Given the description of an element on the screen output the (x, y) to click on. 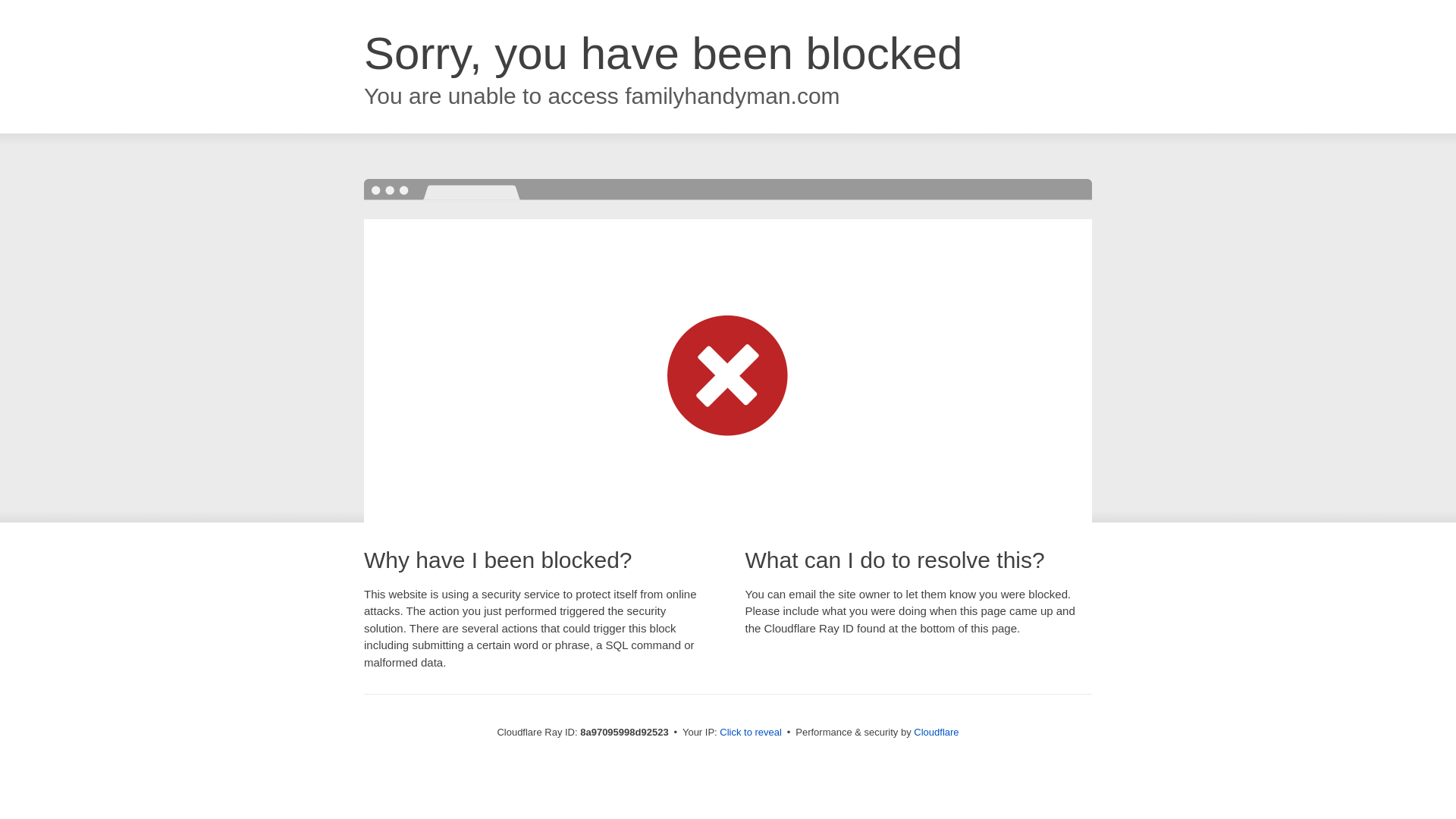
Click to reveal (750, 732)
Cloudflare (936, 731)
